Given the description of an element on the screen output the (x, y) to click on. 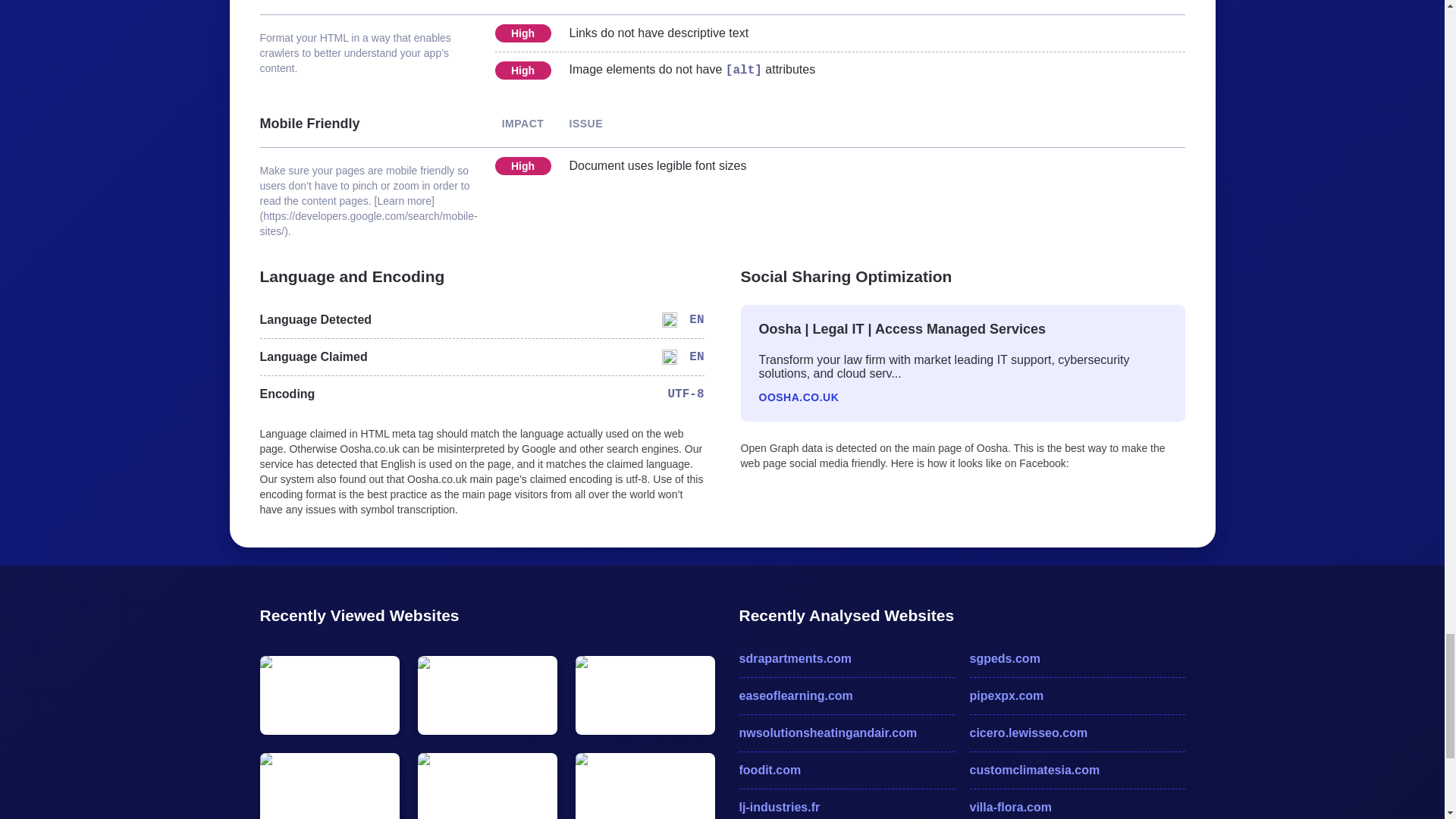
sgpeds.com (1077, 659)
villa-flora.com (1077, 807)
sdrapartments.com (845, 659)
customclimatesia.com (1077, 770)
lj-industries.fr (845, 807)
pipexpx.com (1077, 696)
cicero.lewisseo.com (1077, 732)
nwsolutionsheatingandair.com (845, 732)
easeoflearning.com (845, 696)
foodit.com (845, 770)
